Given the description of an element on the screen output the (x, y) to click on. 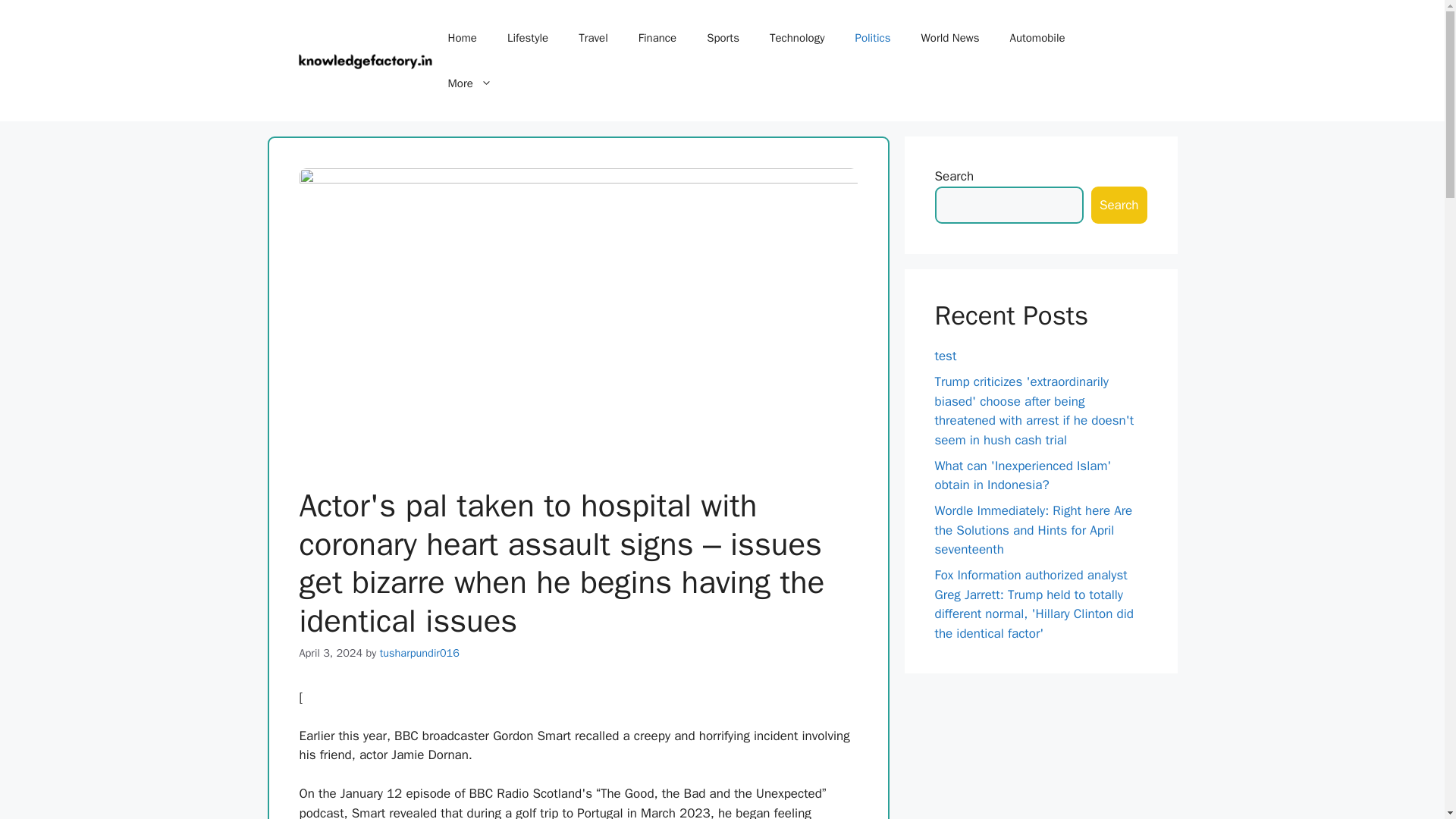
View all posts by tusharpundir016 (420, 653)
tusharpundir016 (420, 653)
World News (949, 37)
Home (462, 37)
What can 'Inexperienced Islam' obtain in Indonesia? (1022, 475)
Automobile (1037, 37)
Finance (657, 37)
test (945, 355)
